Given the description of an element on the screen output the (x, y) to click on. 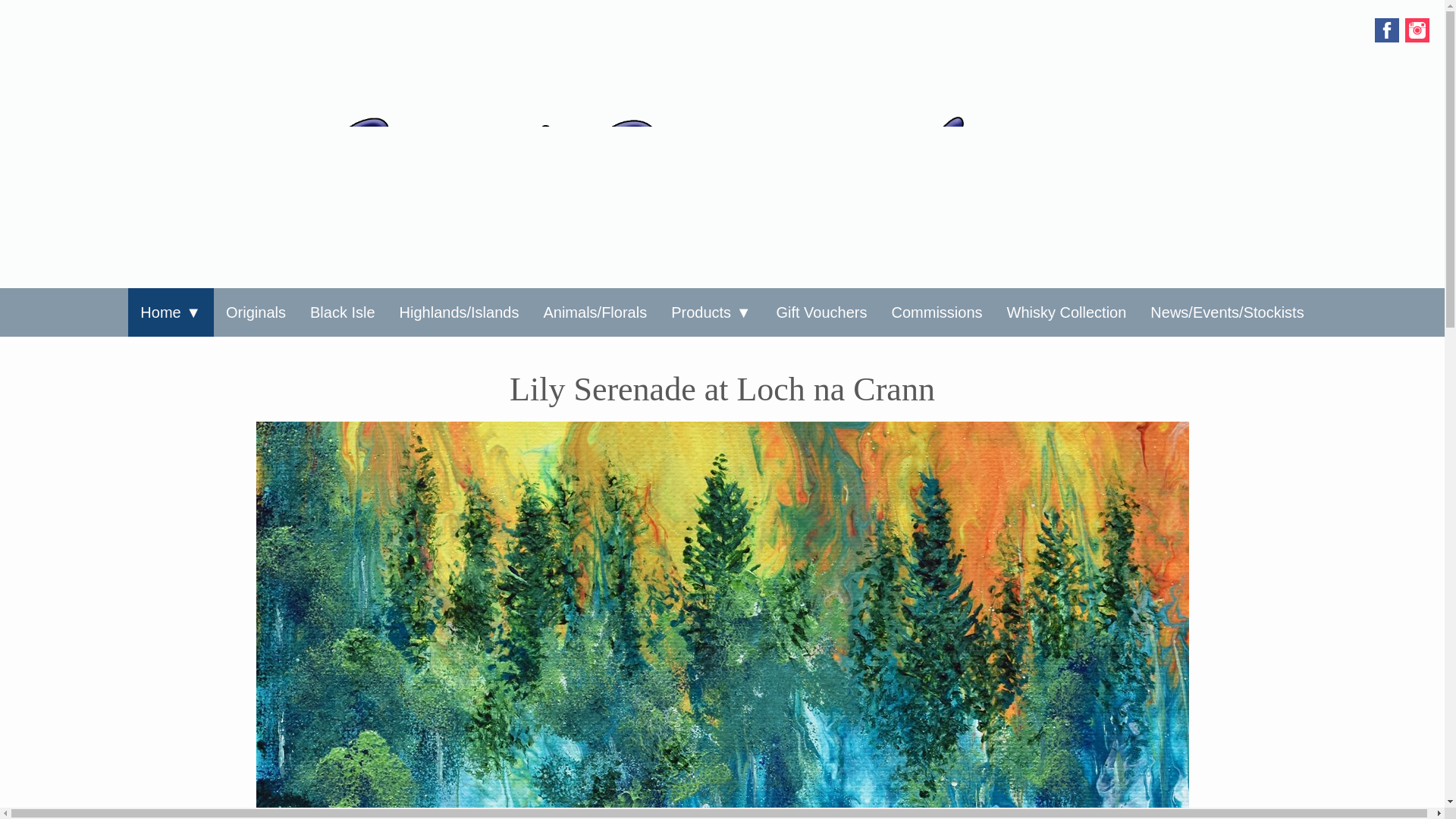
The Allangrange Collection (209, 360)
Instagram (1417, 30)
Gift Vouchers (820, 312)
Originals (256, 312)
Facebook (1386, 30)
Commissions (936, 312)
Products (710, 312)
Skip to Main Content (721, 12)
Facebook (1386, 30)
Whisky Collection (1066, 312)
Black Isle (342, 312)
Contact Me (209, 350)
Hand Painted Originals (739, 350)
Instagram (1417, 30)
Home (171, 312)
